Given the description of an element on the screen output the (x, y) to click on. 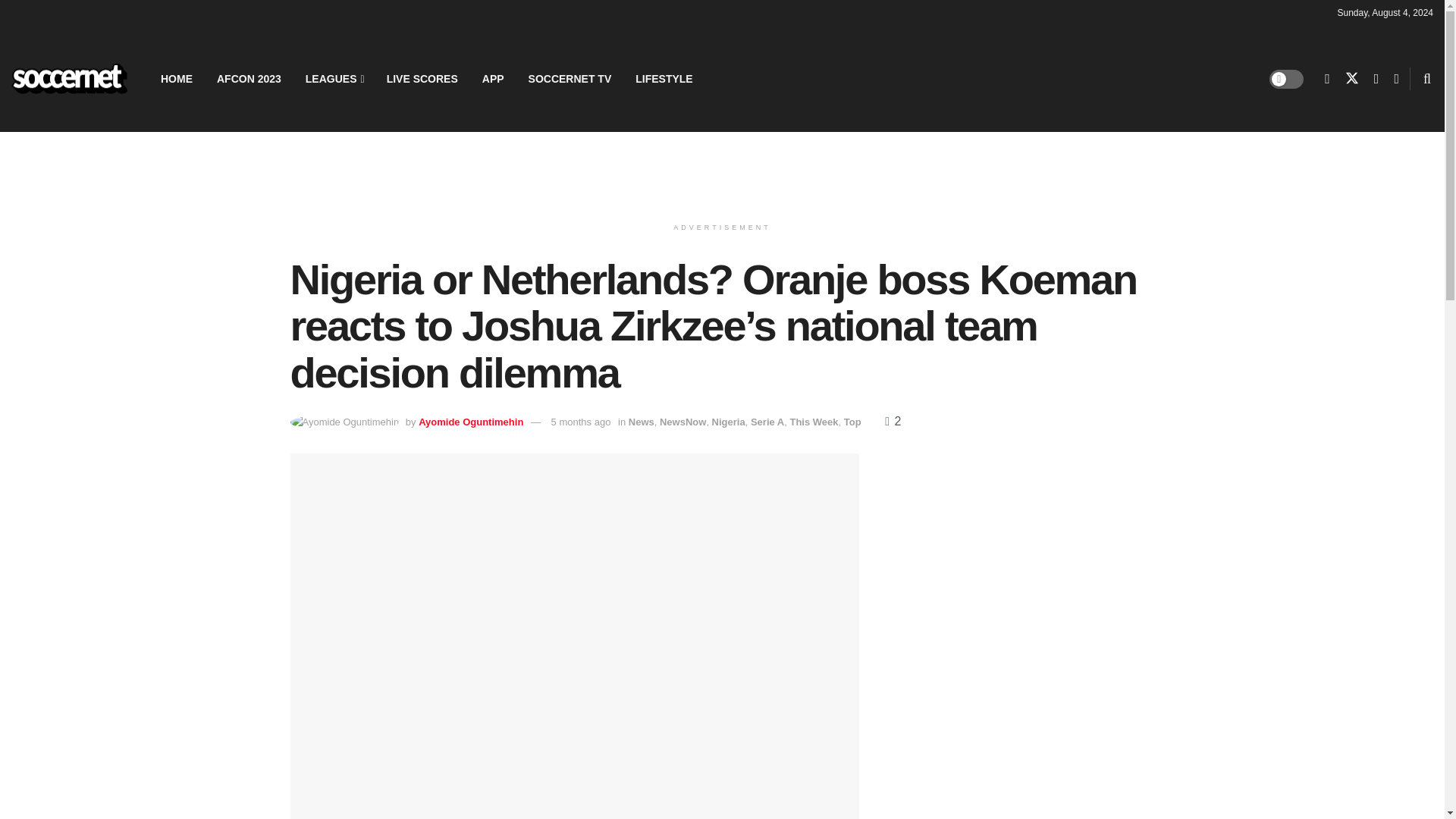
LEAGUES (334, 78)
AFCON 2023 (249, 78)
HOME (176, 78)
LIFESTYLE (663, 78)
Ayomide Oguntimehin (470, 421)
LIVE SCORES (422, 78)
SOCCERNET TV (570, 78)
APP (493, 78)
